Given the description of an element on the screen output the (x, y) to click on. 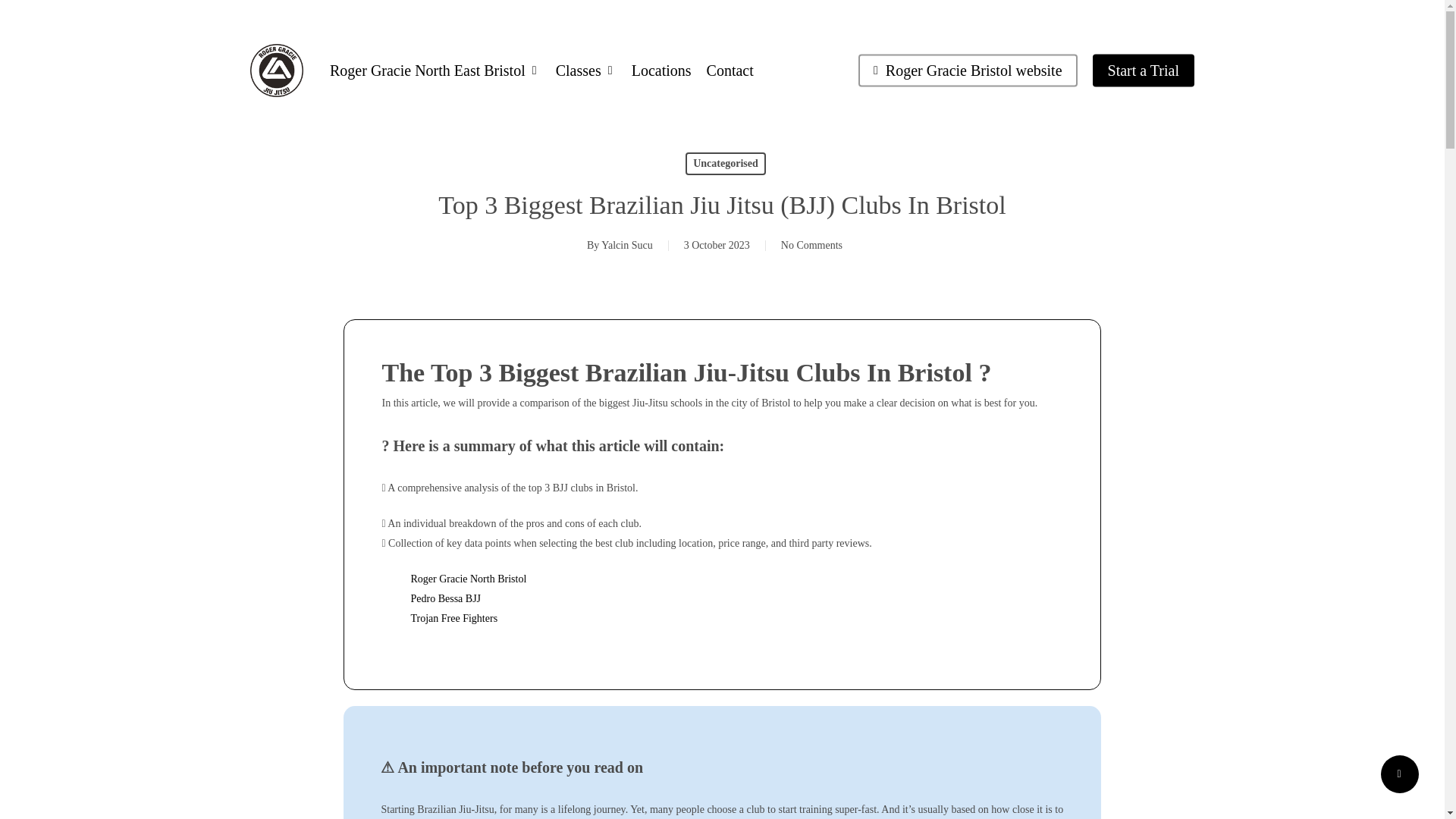
Trojan Free Fighters (453, 618)
Yalcin Sucu (626, 244)
Roger Gracie North Bristol (467, 578)
Roger Gracie Bristol website (968, 70)
Classes (585, 70)
Locations (661, 70)
Pedro Bessa BJJ (445, 598)
No Comments (811, 244)
Posts by Yalcin Sucu (626, 244)
Contact (730, 70)
Start a Trial (1143, 70)
Roger Gracie North East Bristol (435, 70)
Uncategorised (725, 163)
